Given the description of an element on the screen output the (x, y) to click on. 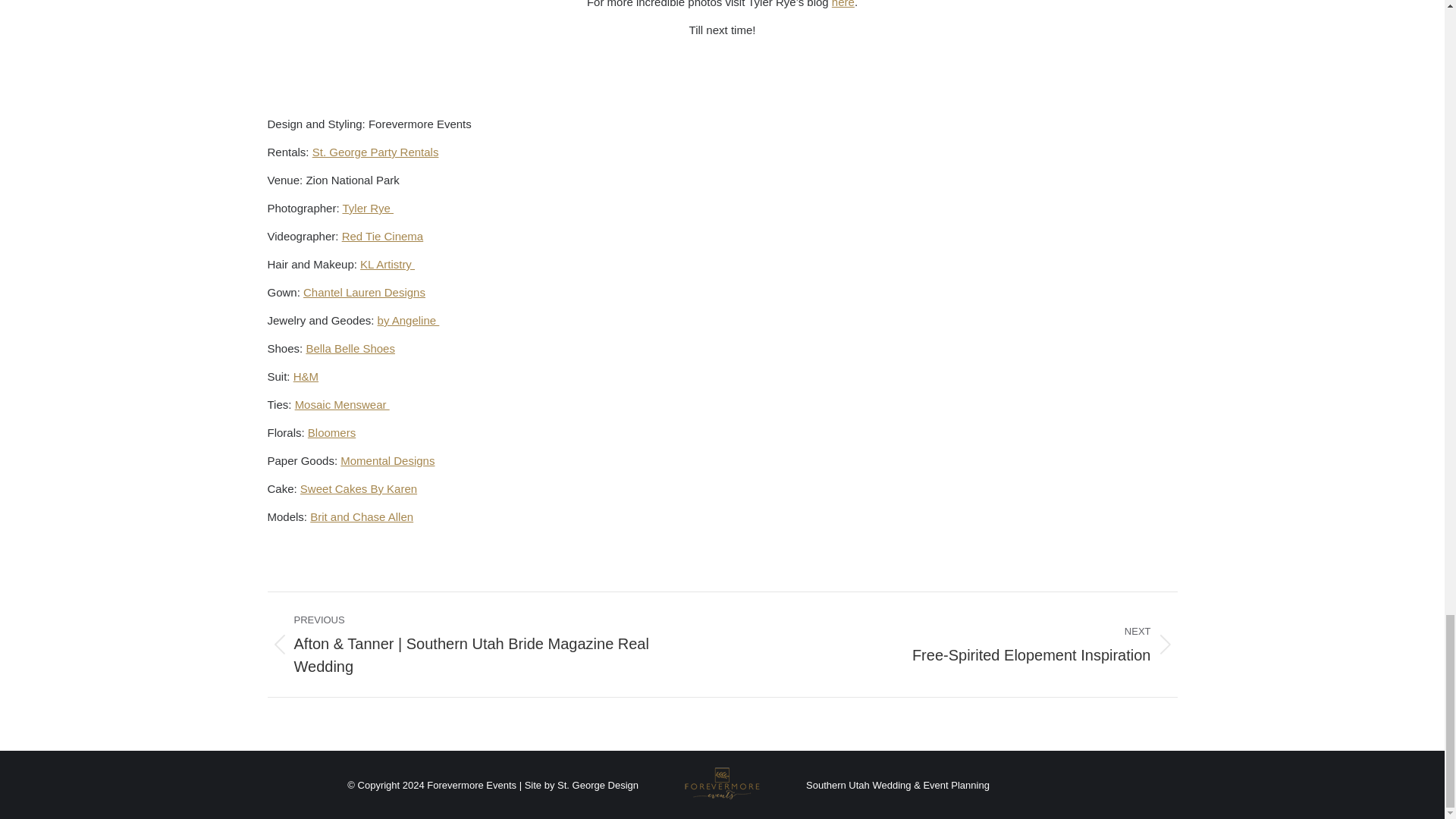
St. George Party Rentals (376, 151)
KL Artistry  (386, 264)
Red Tie Cinema (382, 236)
Chantel Lauren Designs (363, 291)
here (842, 4)
Tyler Rye  (367, 207)
by Angeline  (408, 319)
